Given the description of an element on the screen output the (x, y) to click on. 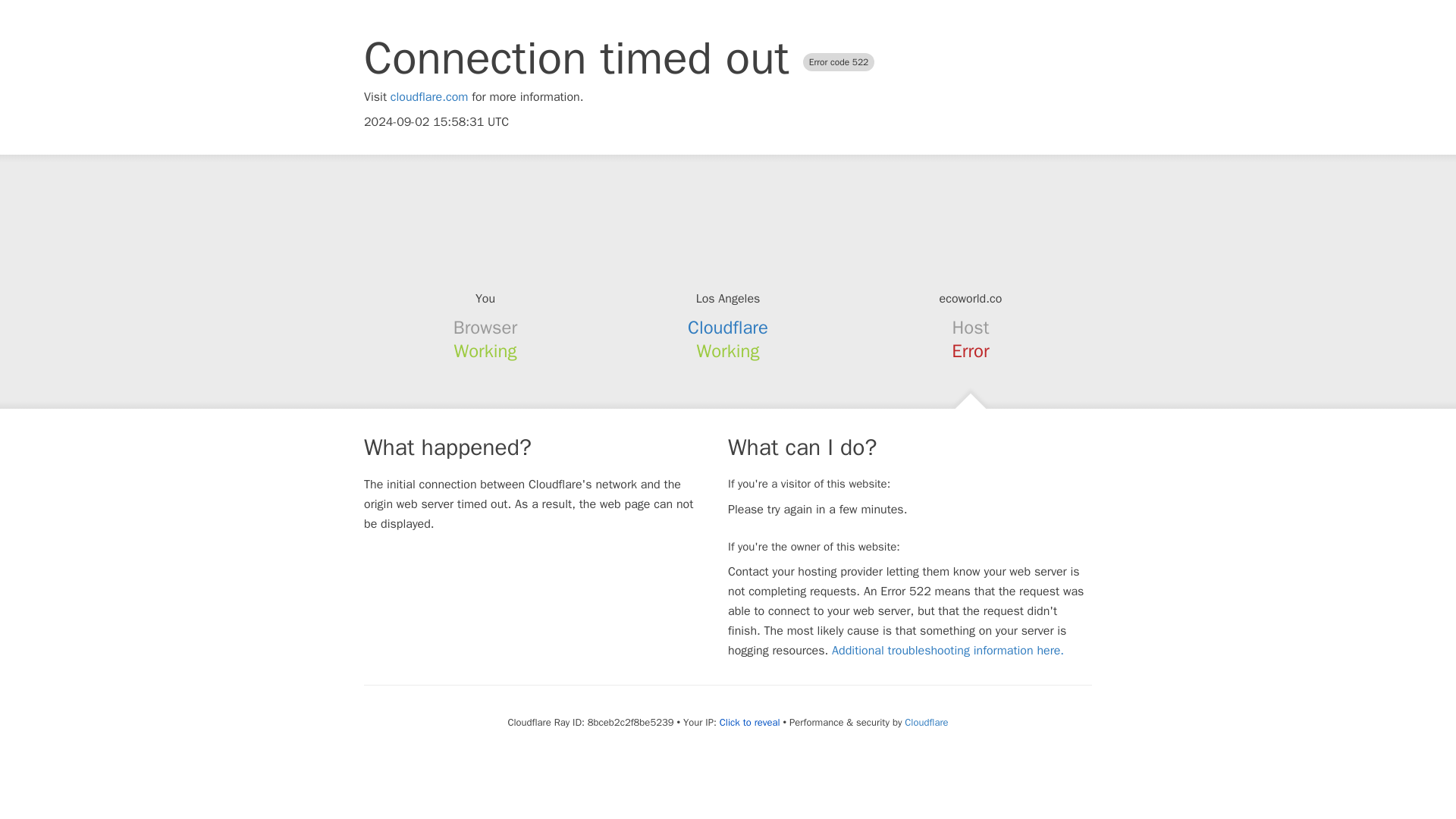
cloudflare.com (429, 96)
Cloudflare (925, 721)
Click to reveal (749, 722)
Cloudflare (727, 327)
Additional troubleshooting information here. (947, 650)
